Given the description of an element on the screen output the (x, y) to click on. 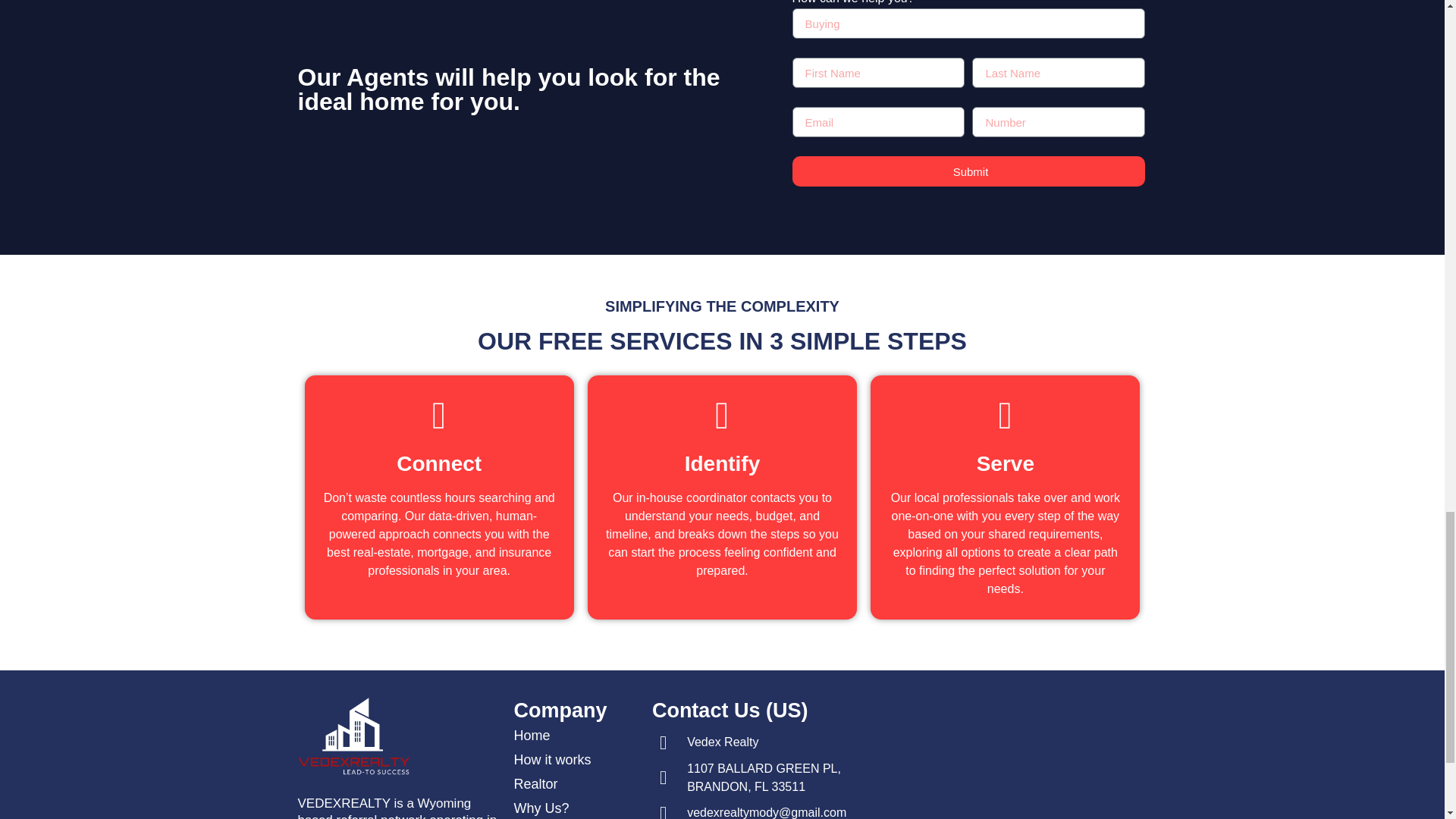
Submit (968, 171)
